Given the description of an element on the screen output the (x, y) to click on. 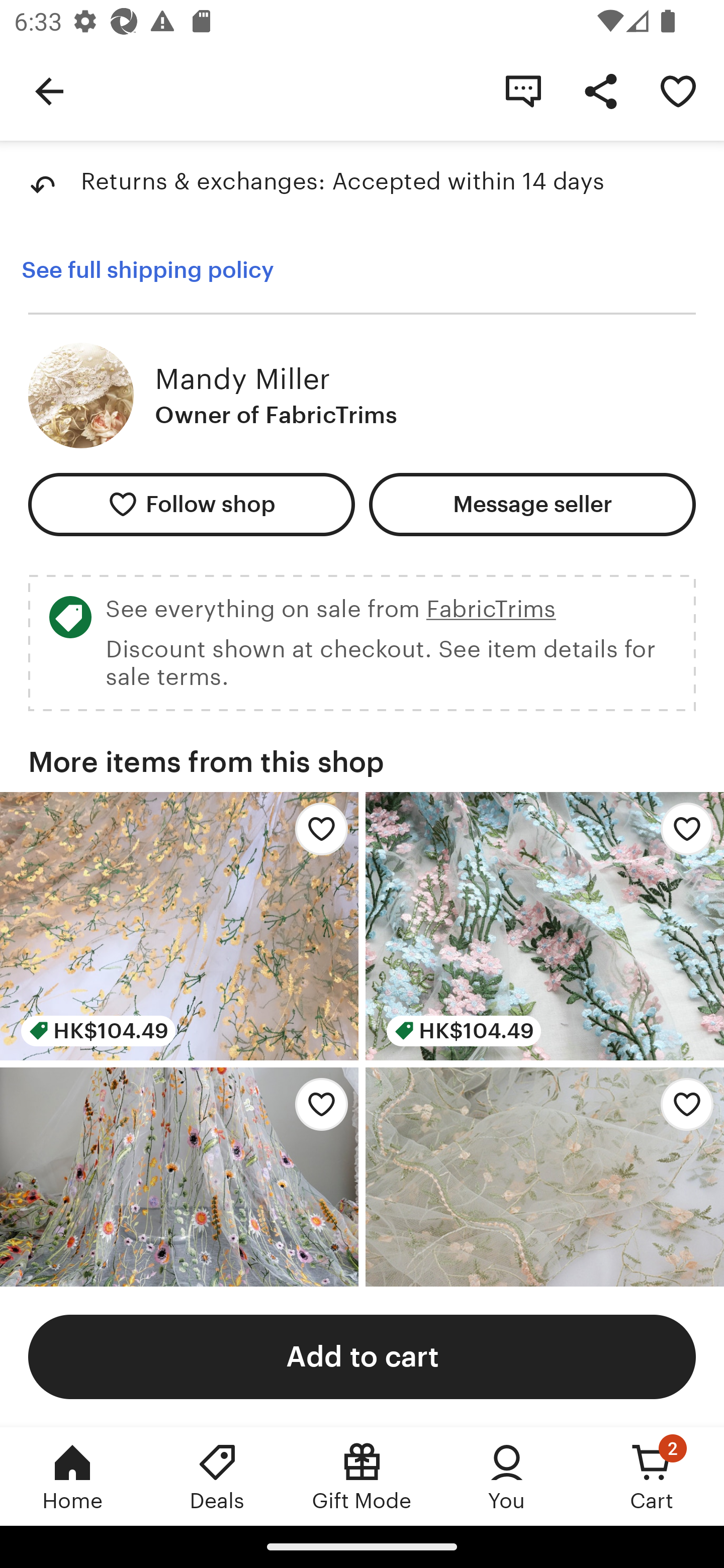
Navigate up (49, 90)
Contact shop (523, 90)
Share (600, 90)
See full shipping policy (147, 270)
Follow shop Follow FabricTrims (191, 504)
Message seller (532, 504)
Add to cart (361, 1355)
Deals (216, 1475)
Gift Mode (361, 1475)
You (506, 1475)
Cart, 2 new notifications Cart (651, 1475)
